Given the description of an element on the screen output the (x, y) to click on. 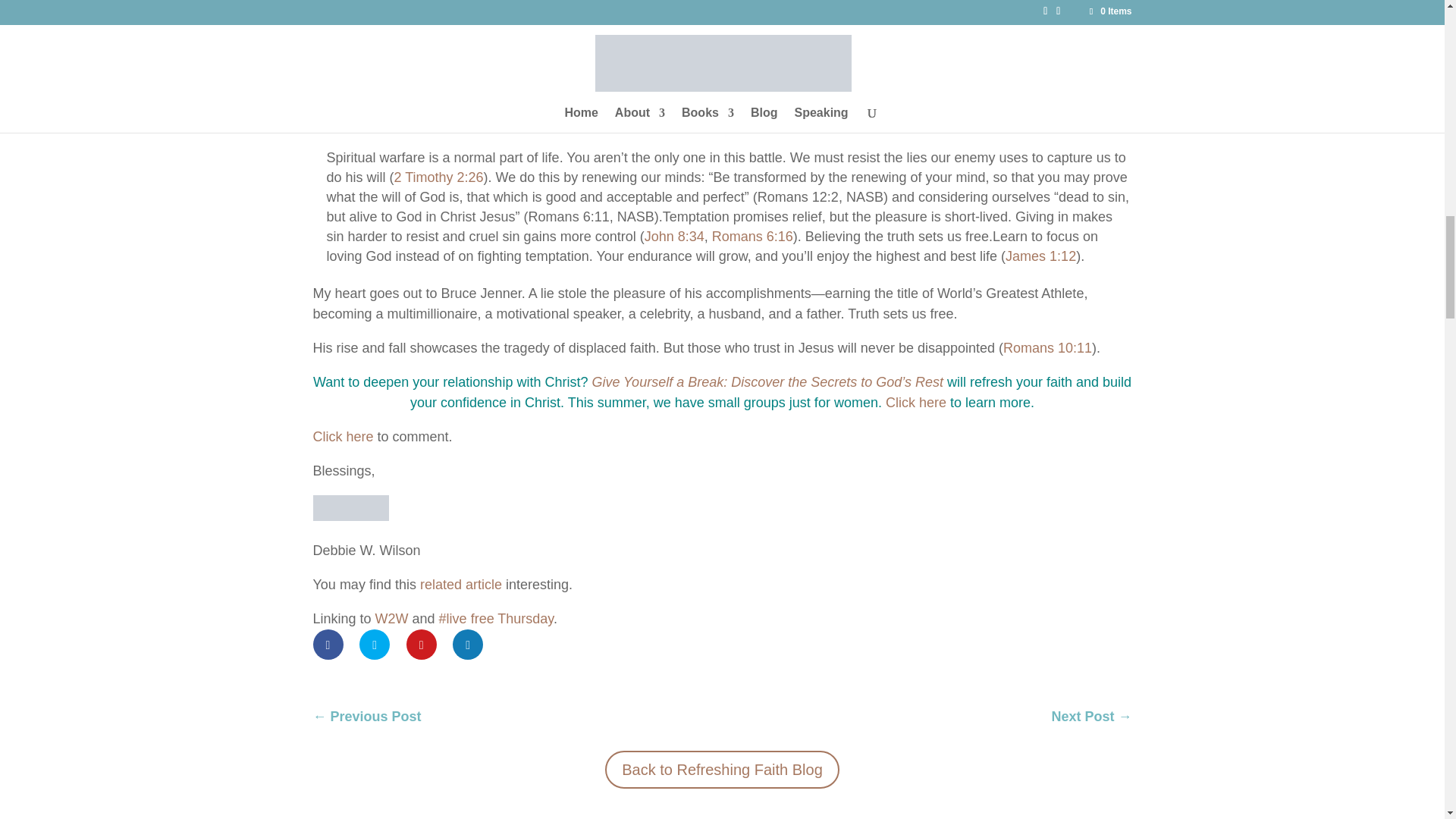
John 8:34 (674, 236)
this war (649, 41)
Acts 16:31 (767, 61)
James 1:12 (1040, 255)
2 Timothy 2:26 (438, 177)
Romans 6:16 (752, 236)
